Given the description of an element on the screen output the (x, y) to click on. 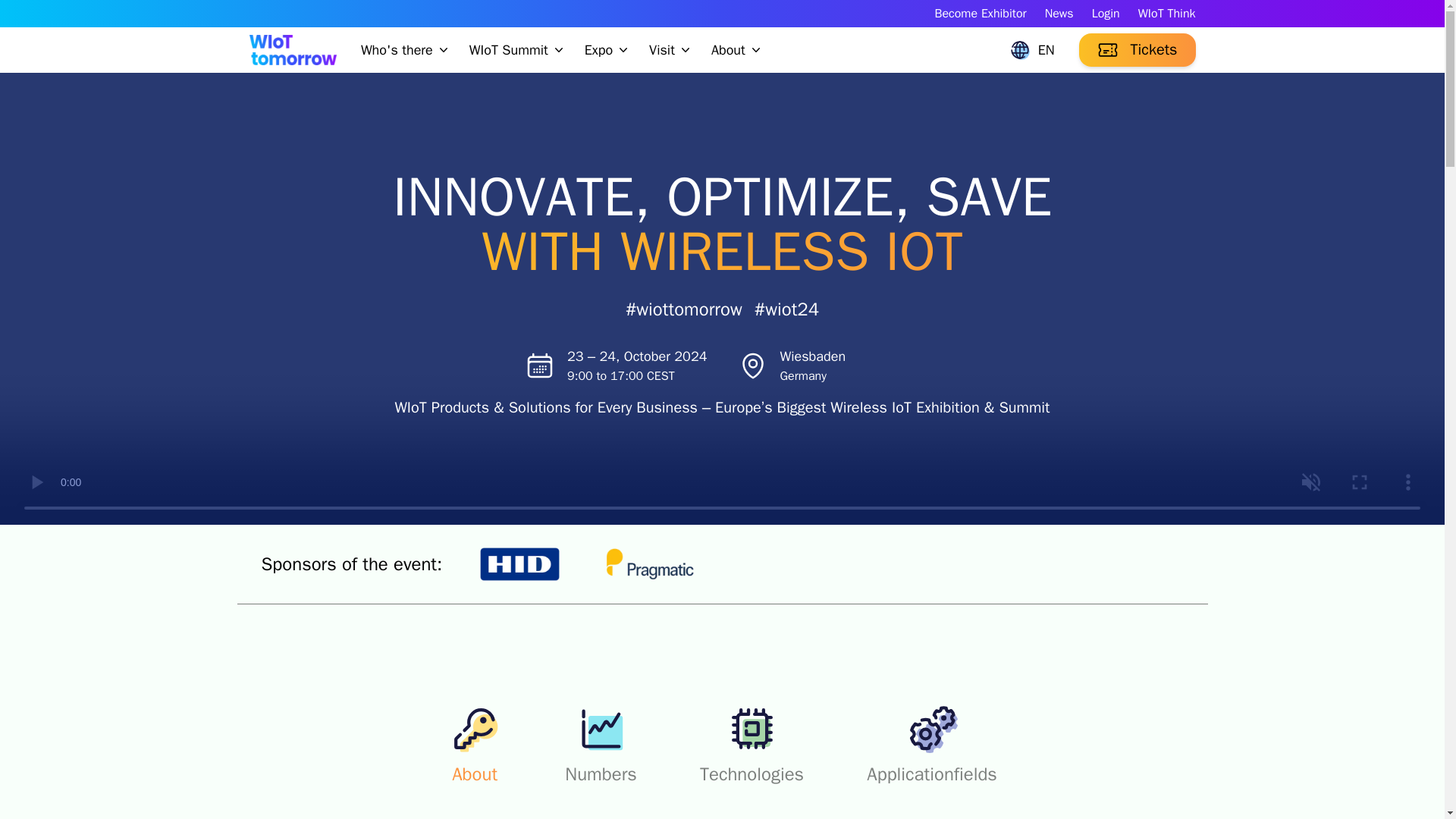
WIoT Summit (517, 49)
Tickets (1136, 49)
Expo (607, 49)
EN (1030, 49)
Login (1105, 13)
About (736, 49)
WIoT Think (1166, 13)
Visit (671, 49)
Who's there (406, 49)
Become Exhibitor (980, 13)
News (1059, 13)
